Given the description of an element on the screen output the (x, y) to click on. 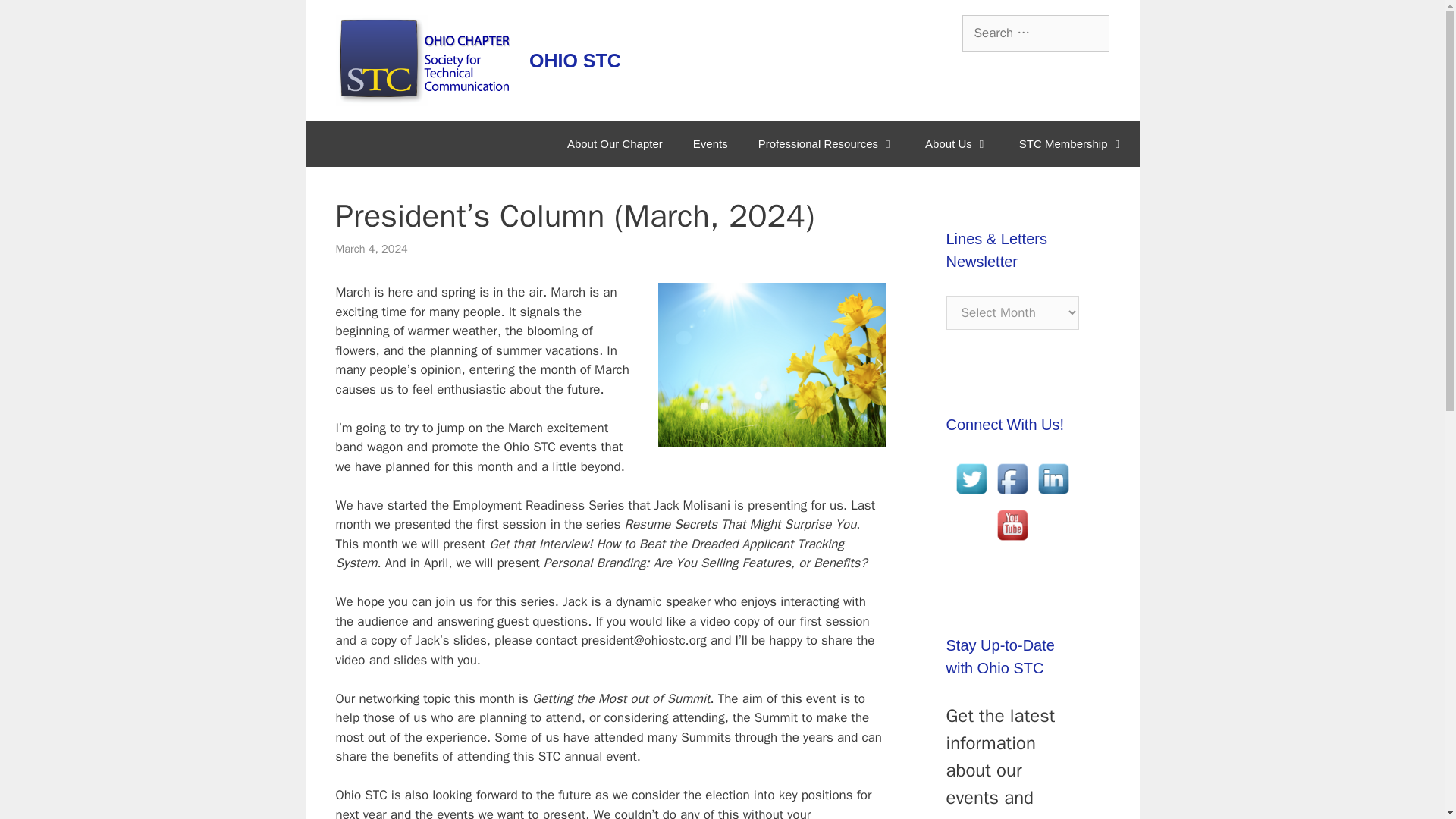
Search (35, 18)
OHIO STC (575, 60)
Visit Us On Youtube (1011, 540)
Events (710, 144)
Visit Us On Linkedin (1053, 494)
Search for: (1034, 33)
About Us (957, 144)
STC Membership (1072, 144)
About Our Chapter (614, 144)
Visit Us On Twitter (970, 494)
Visit Us On Facebook (1011, 494)
Professional Resources (826, 144)
